Given the description of an element on the screen output the (x, y) to click on. 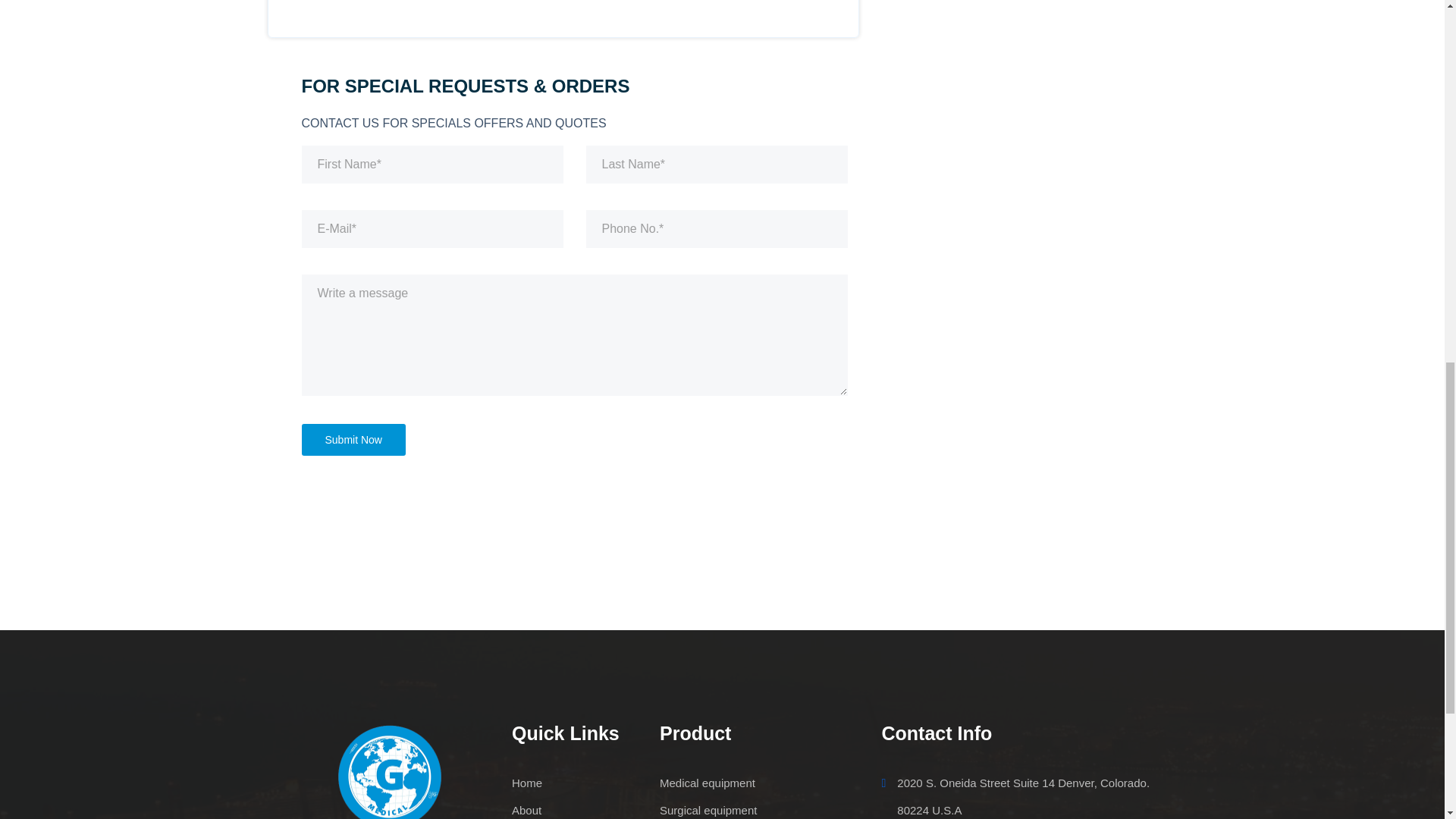
Submit Now (352, 439)
Submit Now (352, 439)
